Given the description of an element on the screen output the (x, y) to click on. 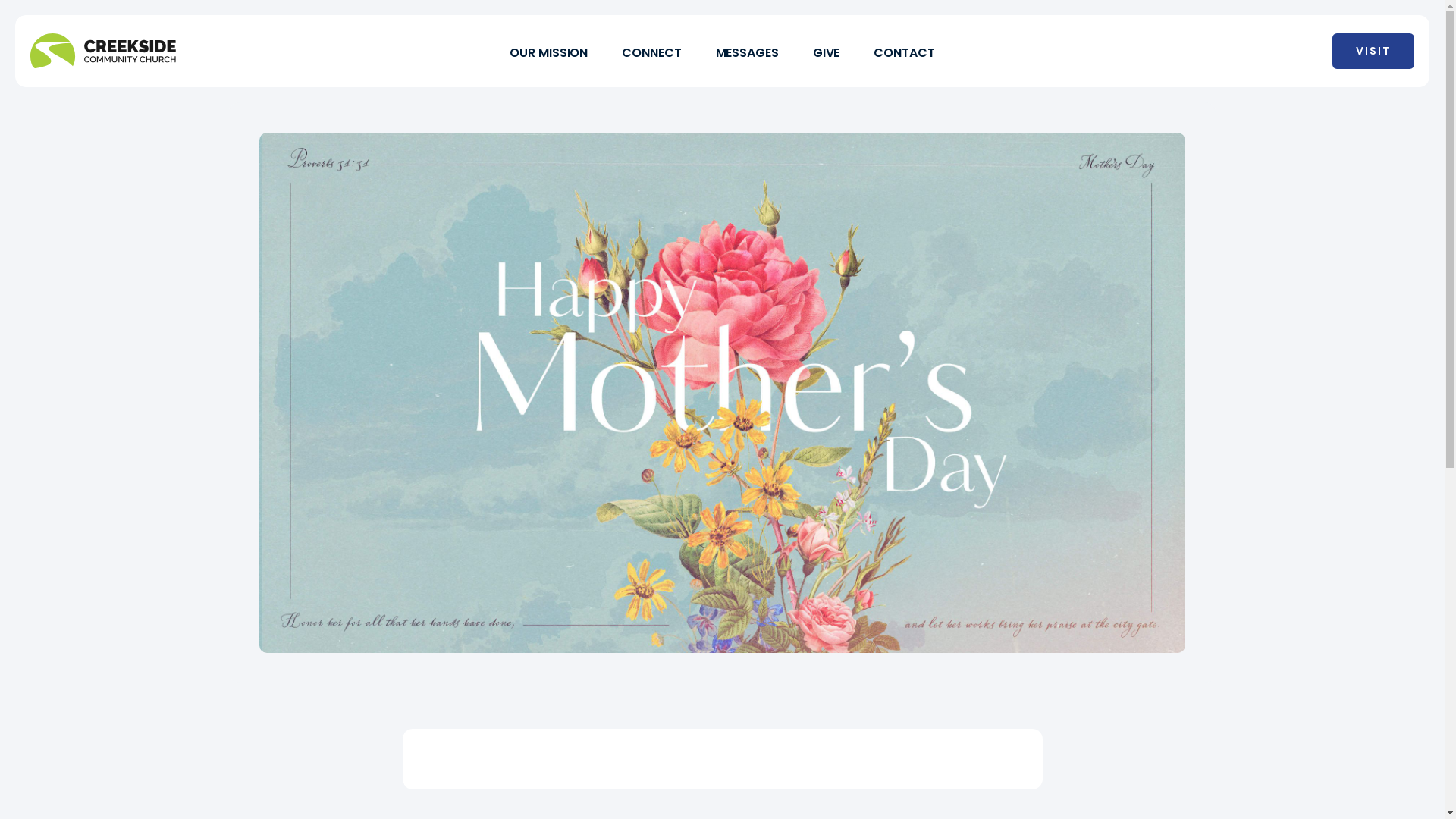
MESSAGES Element type: text (746, 51)
GIVE Element type: text (826, 51)
happy_mother_small Element type: hover (721, 392)
CONTACT Element type: text (903, 51)
VISIT Element type: text (1373, 51)
CONNECT Element type: text (650, 51)
OUR MISSION Element type: text (548, 51)
